Given the description of an element on the screen output the (x, y) to click on. 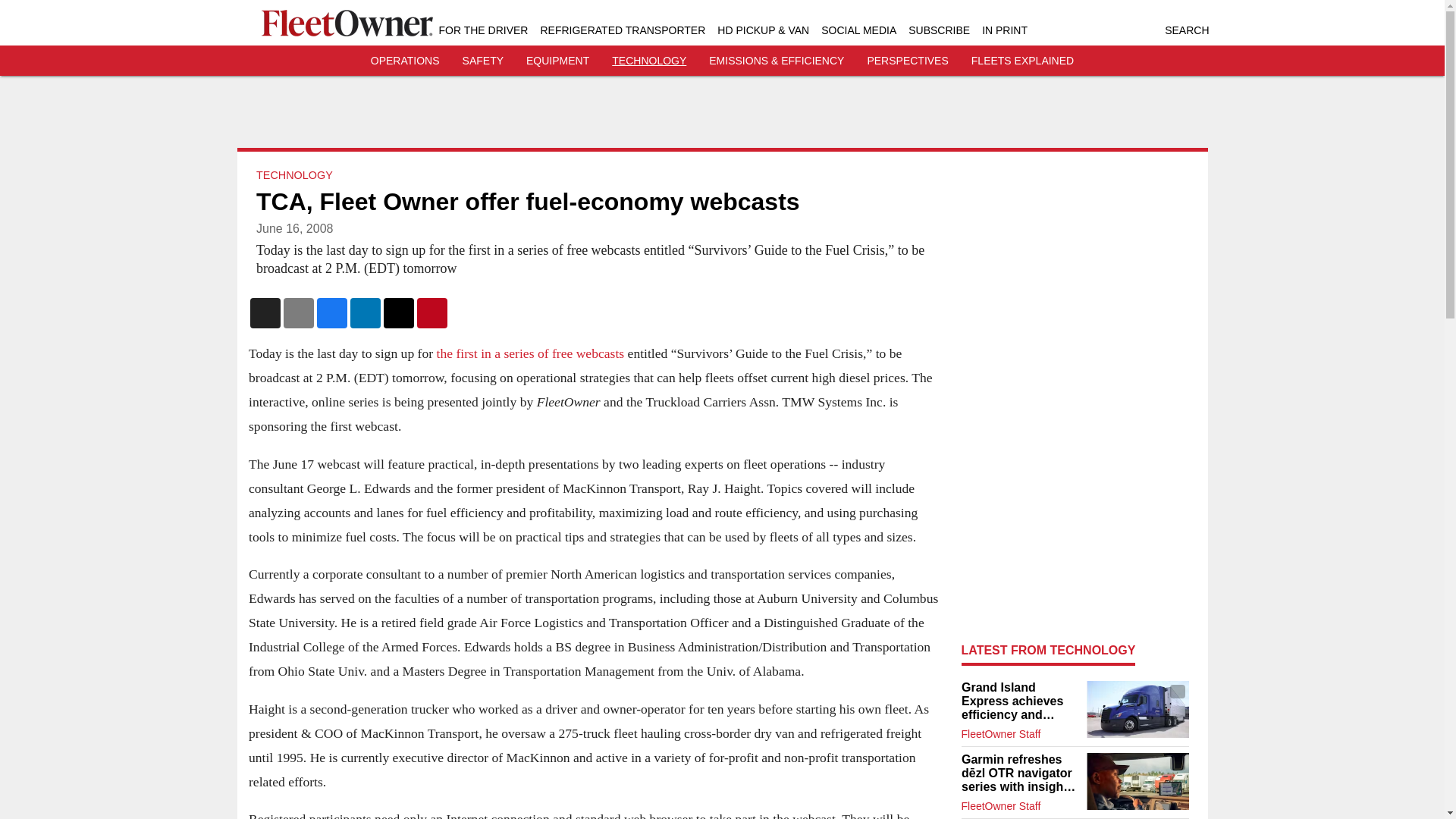
TECHNOLOGY (294, 174)
the first in a series of free webcasts (529, 353)
SUBSCRIBE (938, 30)
REFRIGERATED TRANSPORTER (622, 30)
PERSPECTIVES (906, 60)
FOR THE DRIVER (482, 30)
EQUIPMENT (557, 60)
IN PRINT (1004, 30)
TECHNOLOGY (648, 60)
SEARCH (1186, 30)
